Given the description of an element on the screen output the (x, y) to click on. 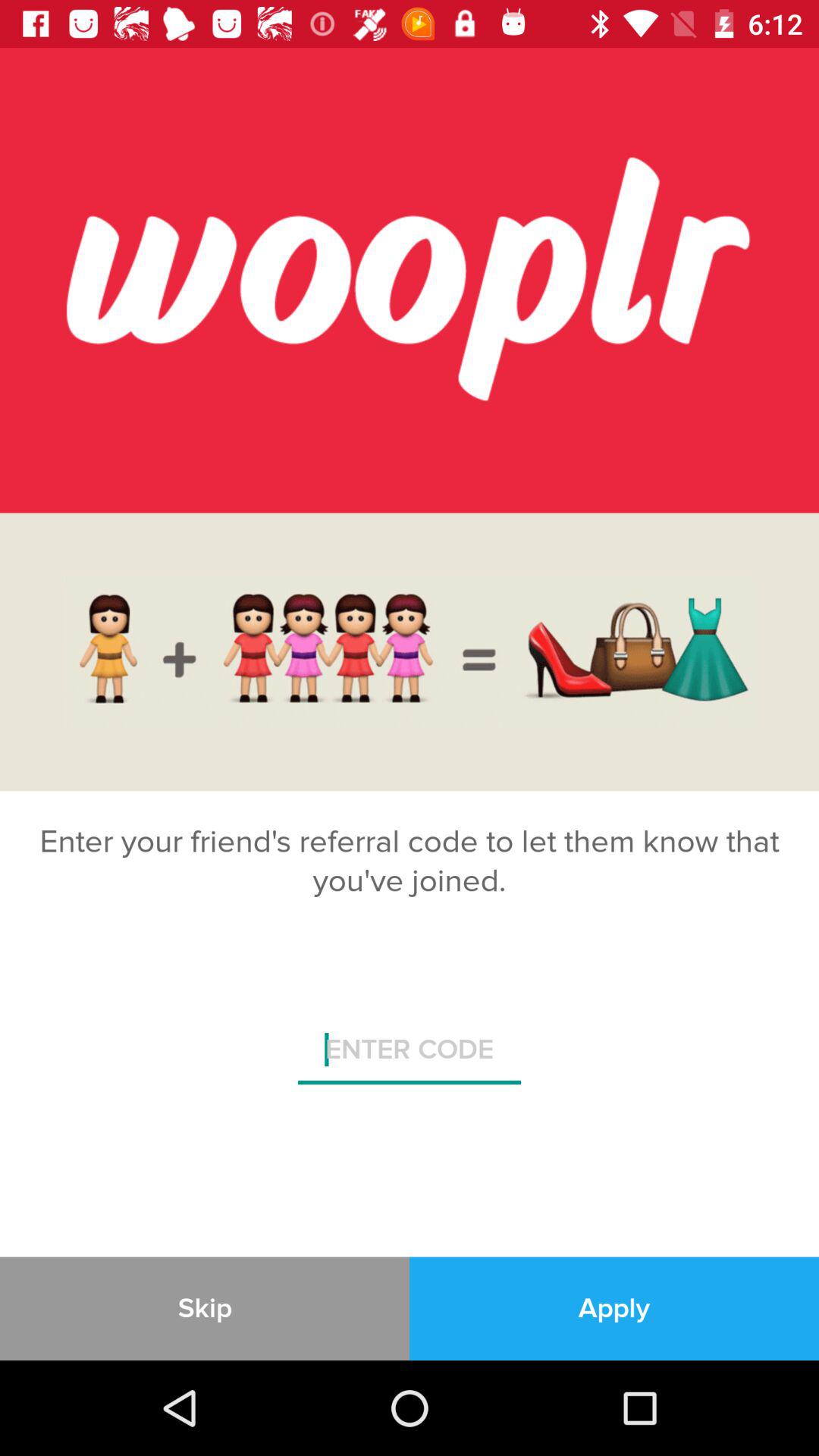
jump to the apply icon (614, 1308)
